Given the description of an element on the screen output the (x, y) to click on. 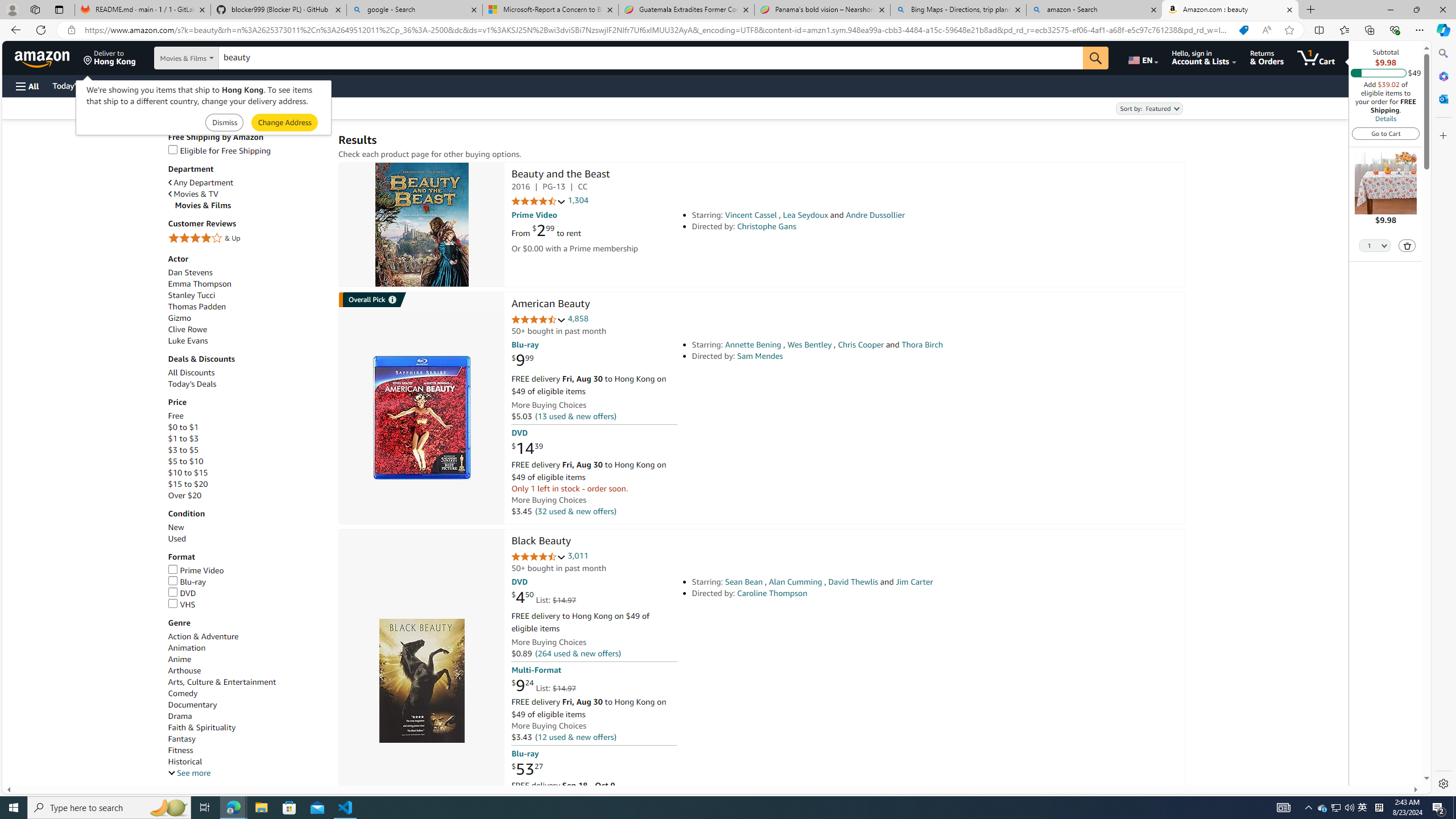
Quantity Selector (1374, 245)
1,304 (577, 200)
Emma Thompson (247, 284)
$1 to $3 (247, 438)
Directed by: Caroline Thompson (850, 593)
Any Department (247, 182)
Blu-ray (186, 581)
$0 to $1 (247, 427)
VHS (181, 604)
$5 to $10 (247, 461)
New (175, 527)
Sam Mendes (759, 355)
